Given the description of an element on the screen output the (x, y) to click on. 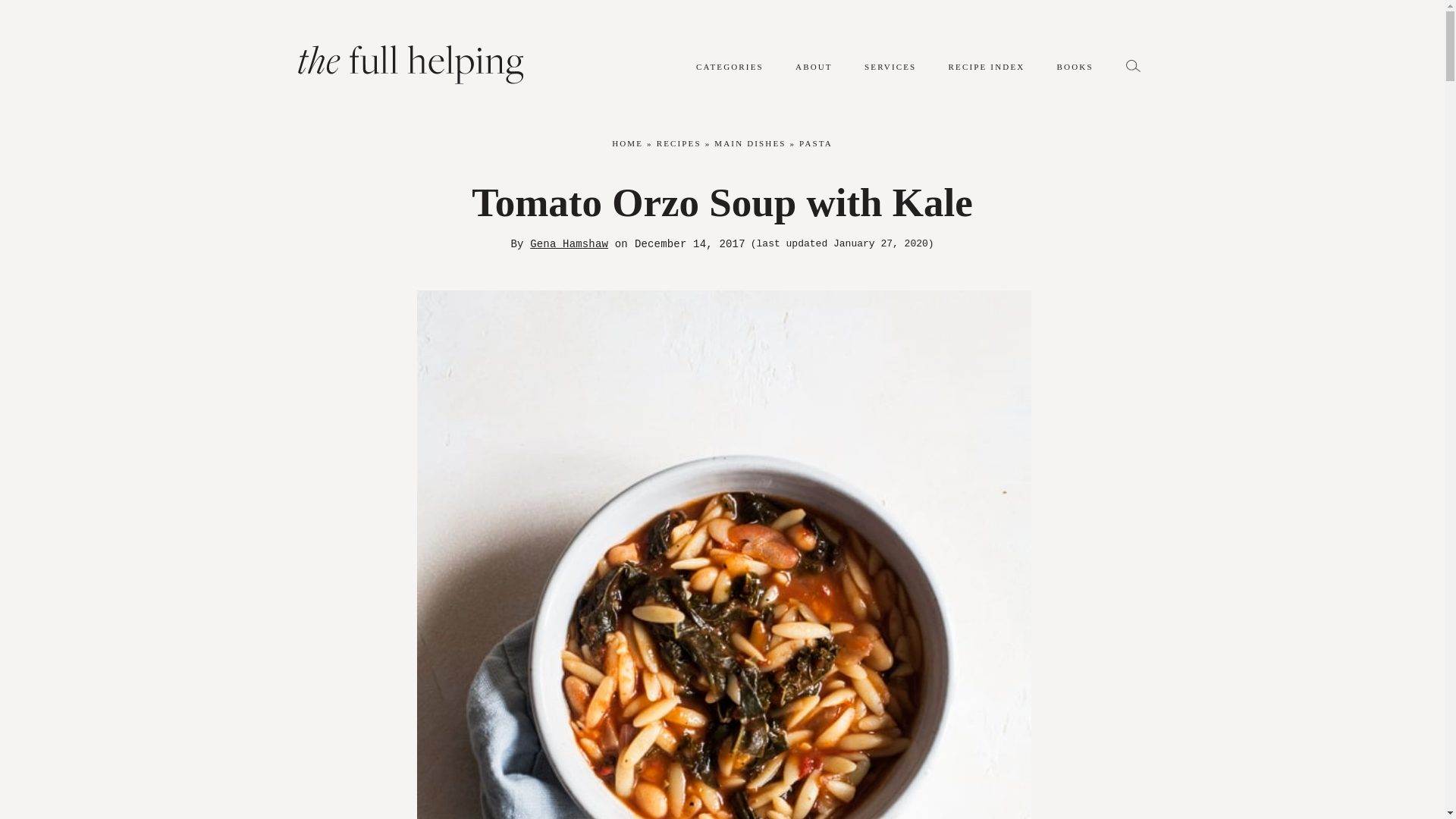
ABOUT (813, 74)
SERVICES (889, 74)
RECIPE INDEX (987, 74)
CATEGORIES (728, 74)
